Given the description of an element on the screen output the (x, y) to click on. 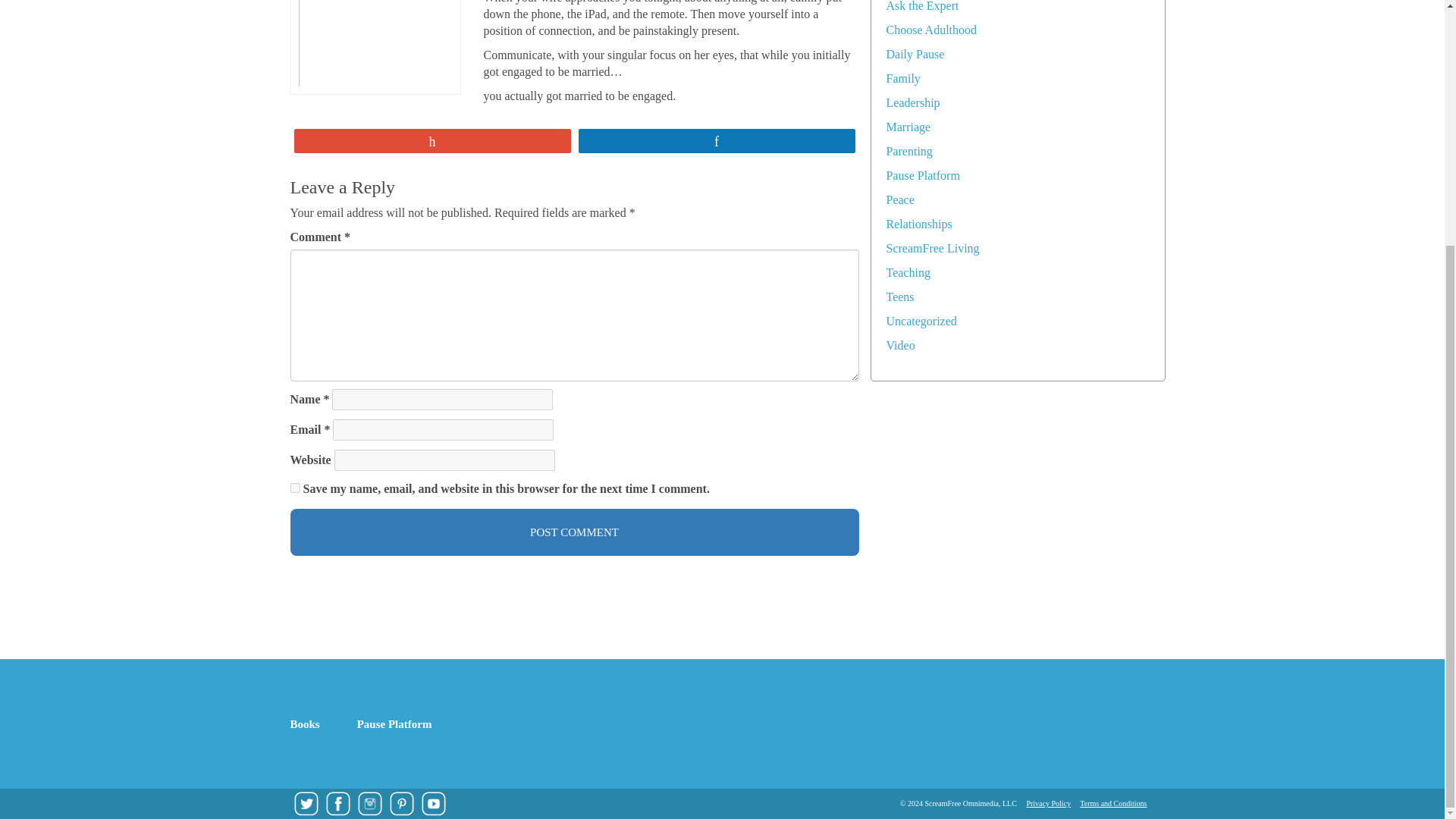
Peace (899, 199)
Ask the Expert (921, 6)
Pause Platform (922, 174)
Family (902, 78)
Leadership (912, 102)
Post Comment (574, 532)
Post Comment (574, 532)
Teaching (907, 272)
Video (899, 345)
Marriage (907, 126)
